Given the description of an element on the screen output the (x, y) to click on. 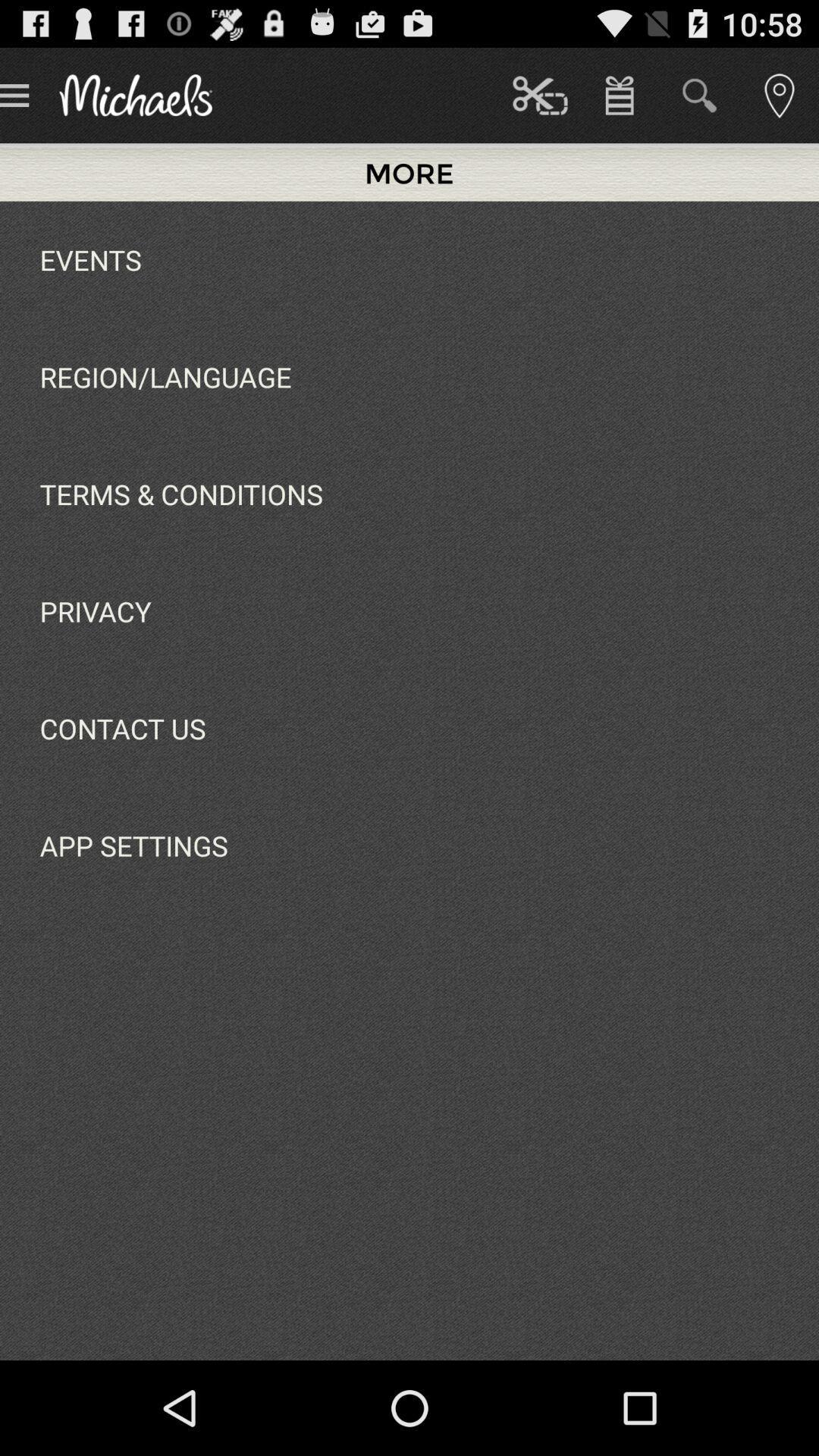
turn on item next to more item (540, 95)
